Given the description of an element on the screen output the (x, y) to click on. 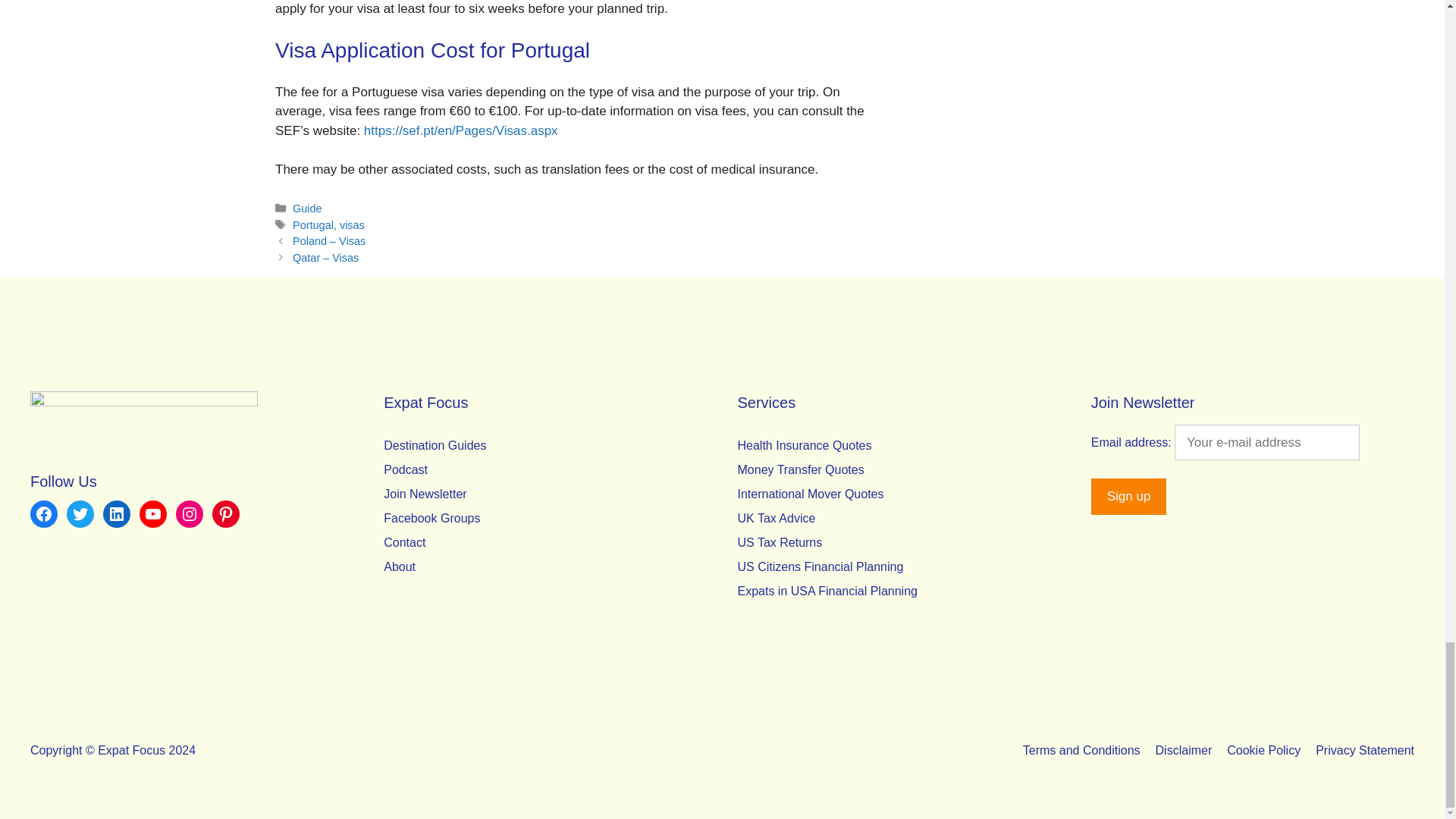
Sign up (1128, 496)
